Given the description of an element on the screen output the (x, y) to click on. 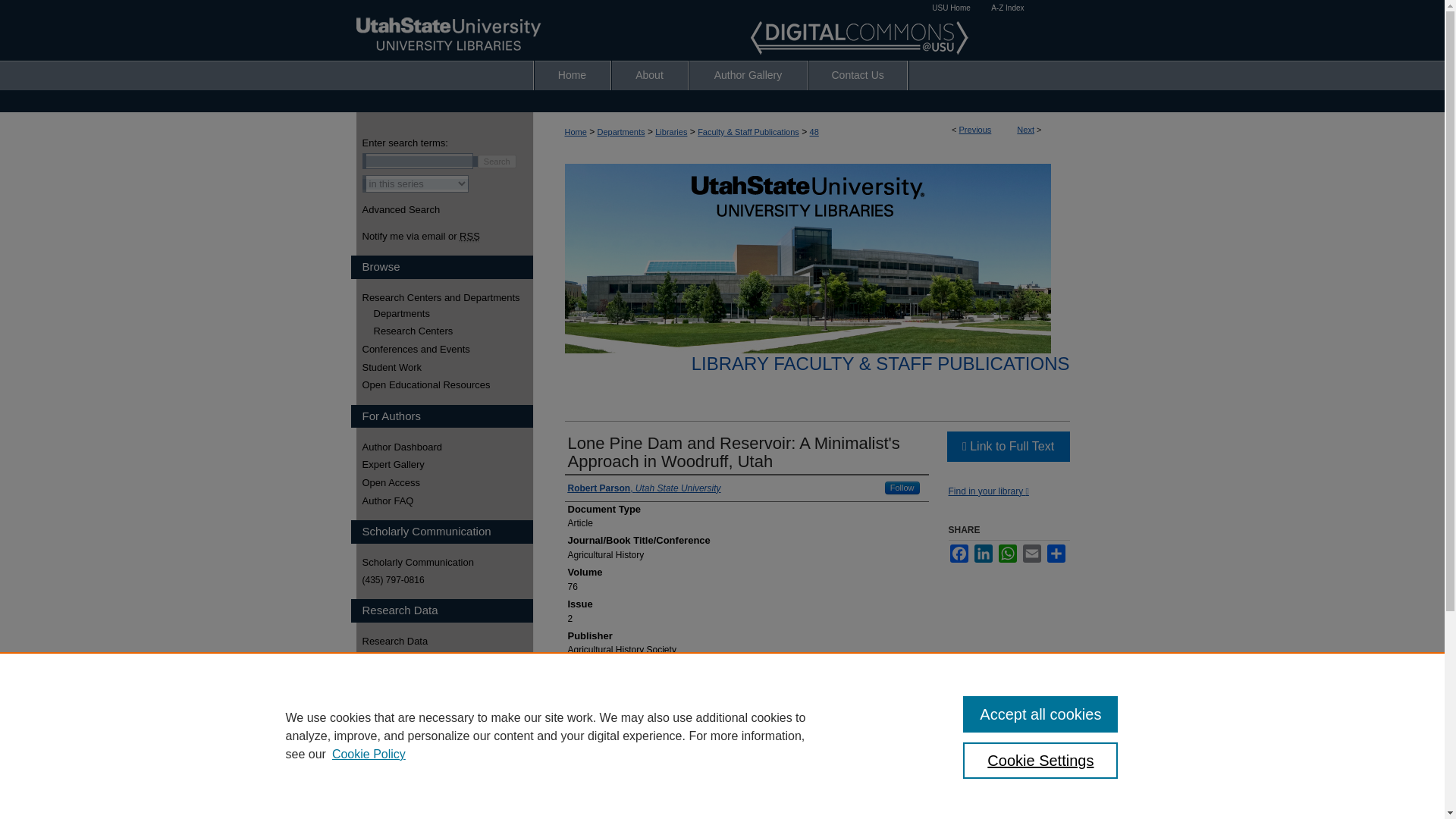
Search (496, 161)
Home (572, 75)
Contact Us (857, 75)
Next (1024, 129)
USU Home (951, 8)
Follow (902, 487)
Follow Robert Parson (902, 487)
Robert Parson, Utah State University (643, 488)
Author Gallery (748, 75)
OpenURL (987, 491)
Home (575, 131)
Home (572, 75)
Link to Full Text (1007, 446)
Facebook (958, 553)
Search (496, 161)
